Given the description of an element on the screen output the (x, y) to click on. 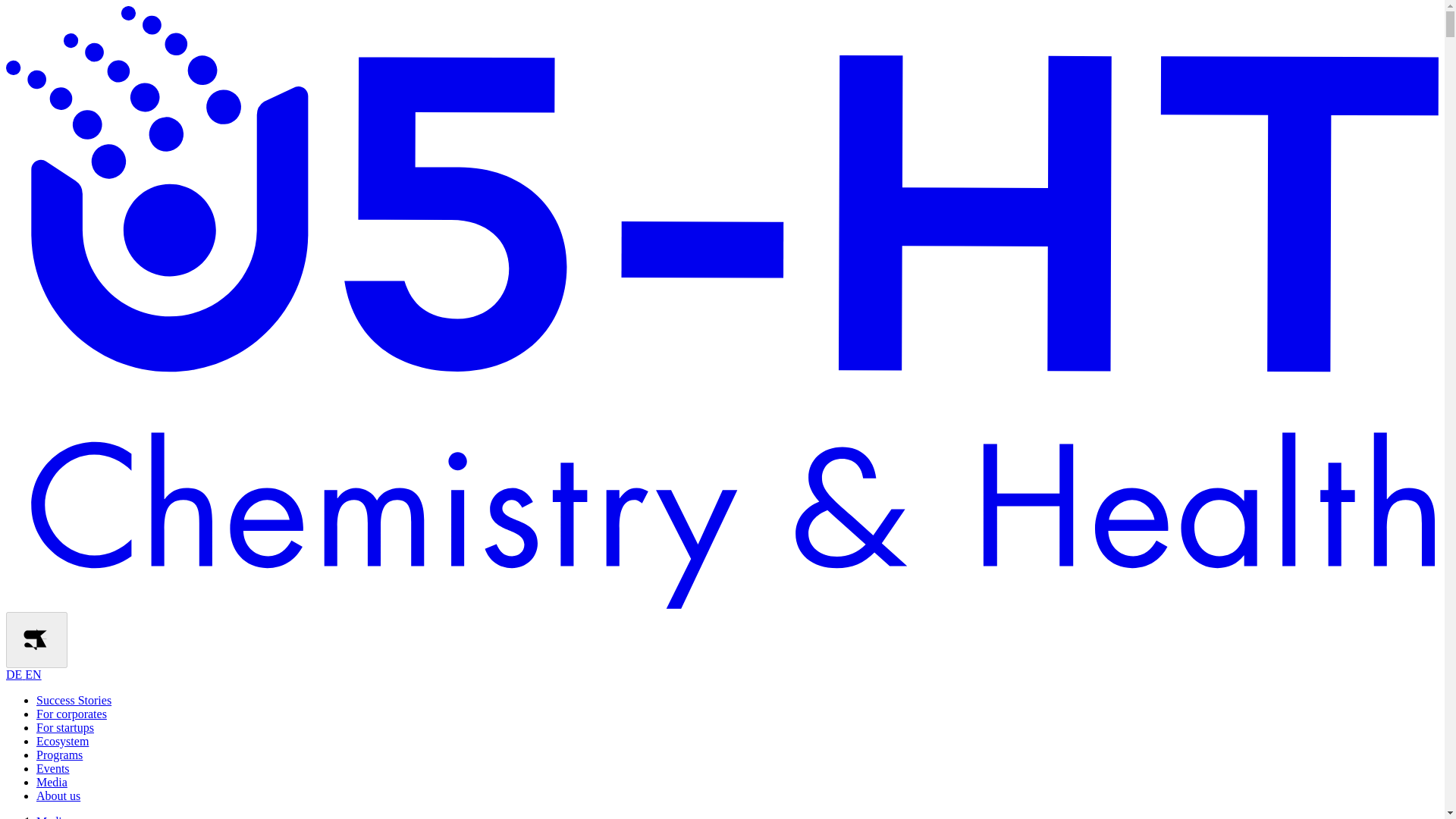
For startups (65, 727)
For startups (65, 727)
Show page in german (23, 674)
For corporates (71, 713)
Success Stories (74, 699)
Programs (59, 754)
Ecosystem (62, 740)
For corporates (71, 713)
Success Stories (74, 699)
DE EN (23, 674)
